Given the description of an element on the screen output the (x, y) to click on. 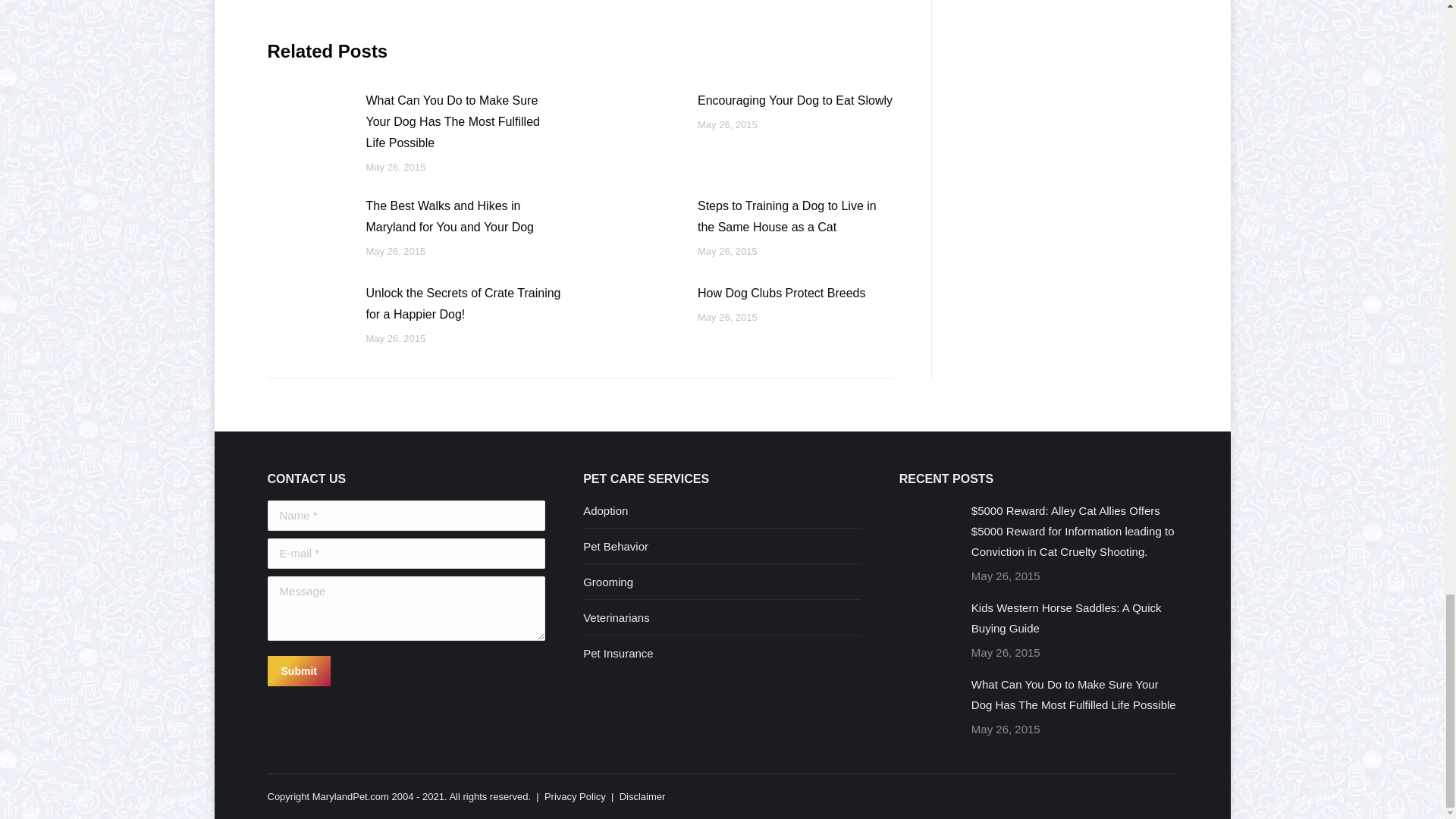
submit (370, 671)
